Given the description of an element on the screen output the (x, y) to click on. 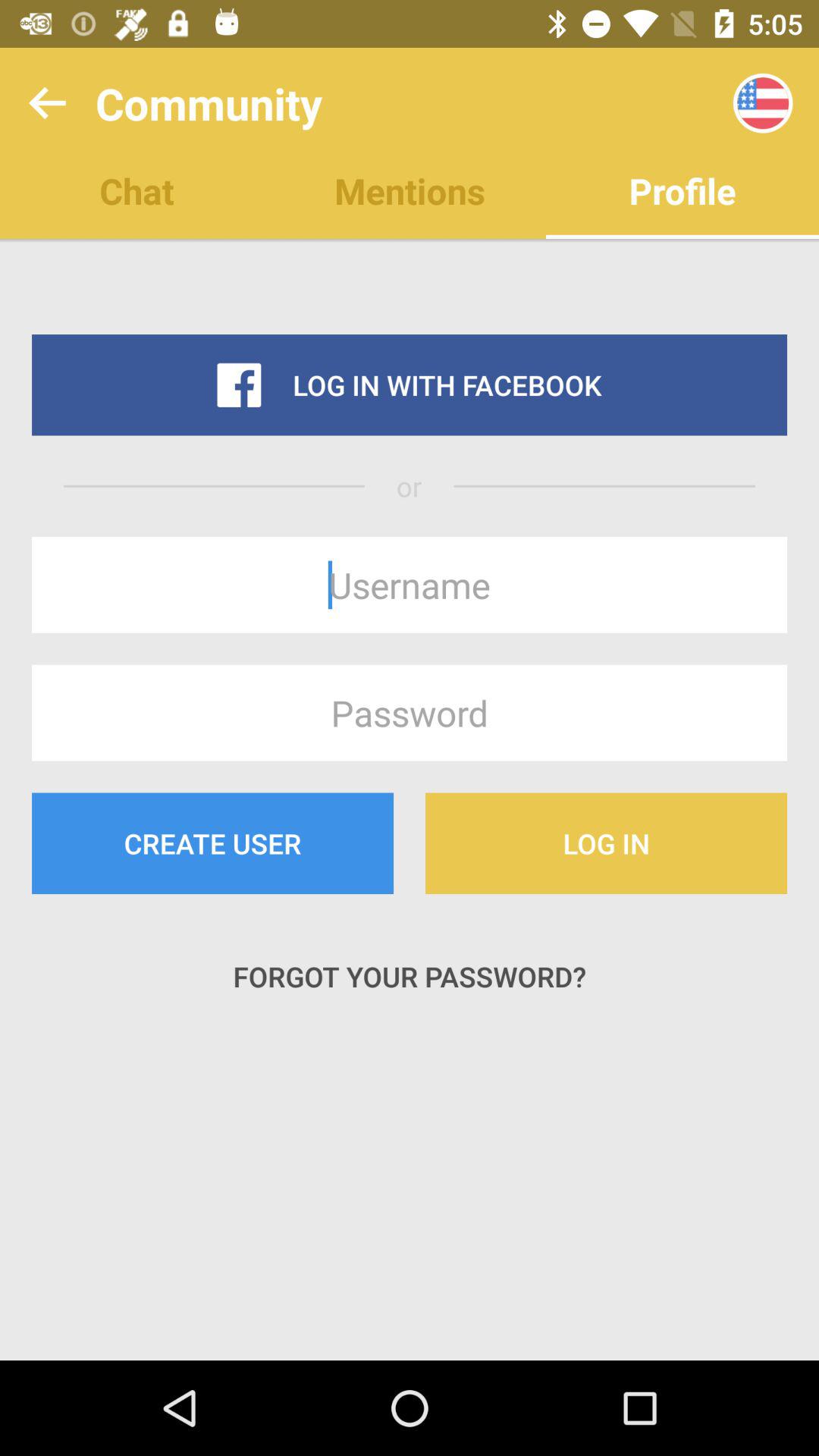
press the icon above create user item (409, 712)
